Given the description of an element on the screen output the (x, y) to click on. 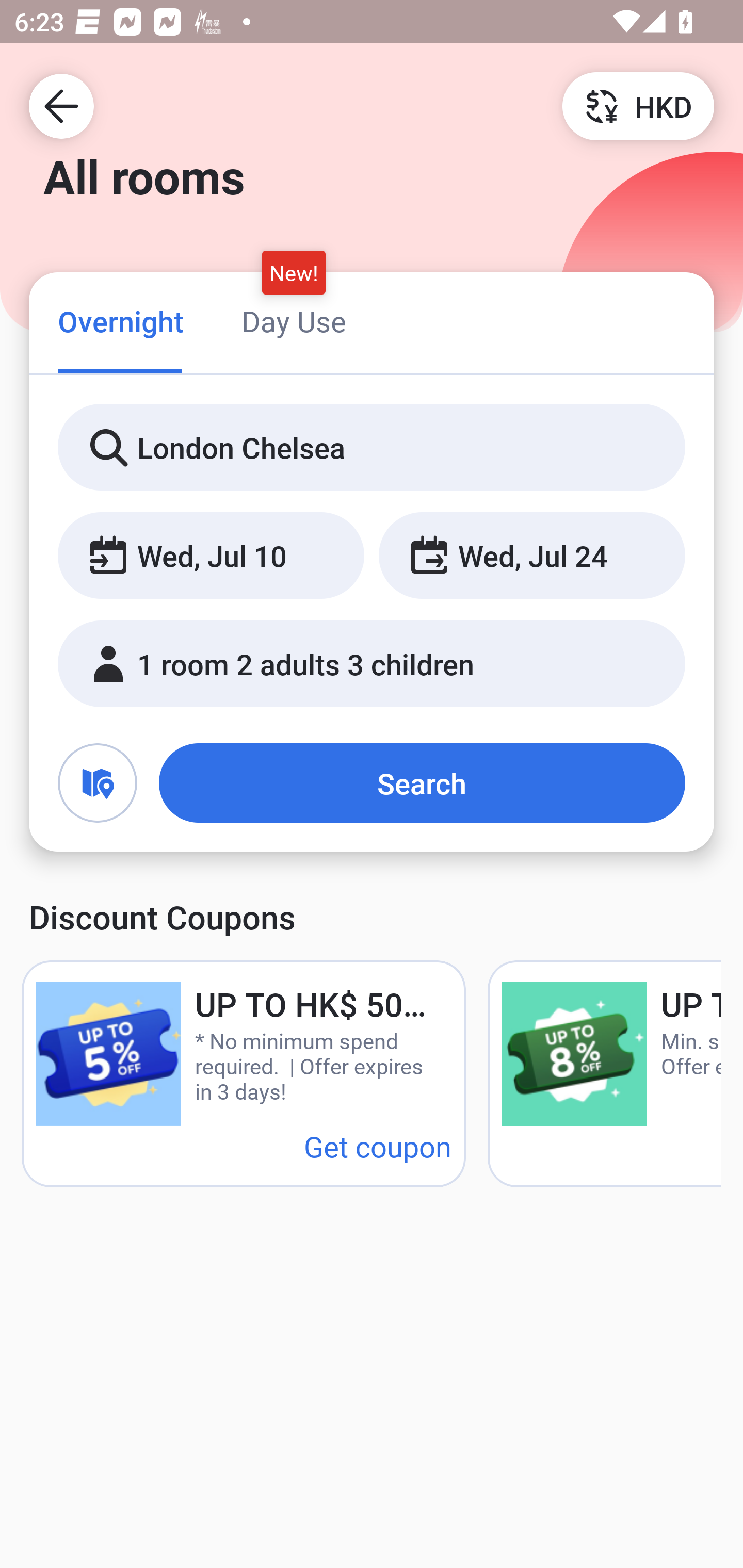
HKD (638, 105)
New! (294, 272)
Day Use (293, 321)
London Chelsea (371, 447)
Wed, Jul 10 (210, 555)
Wed, Jul 24 (531, 555)
1 room 2 adults 3 children (371, 663)
Search (422, 783)
Get coupon (377, 1146)
